Given the description of an element on the screen output the (x, y) to click on. 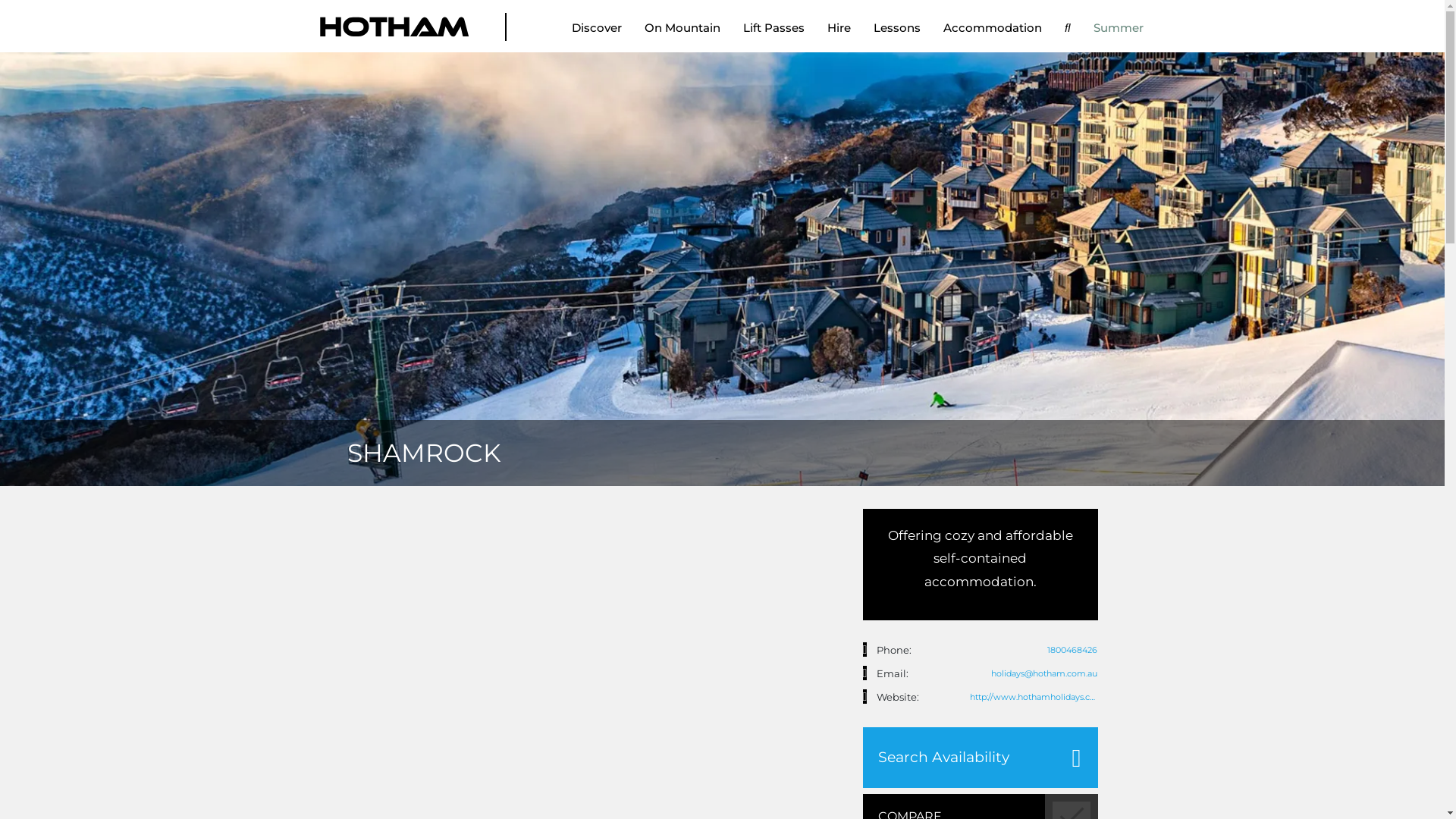
Lift Passes Element type: text (773, 32)
http://www.hothamholidays.com.au/ Element type: hover (864, 696)
Search Availability Element type: text (980, 757)
On Mountain Element type: text (682, 32)
Lessons Element type: text (896, 32)
1800468426 Element type: hover (864, 649)
http://www.hothamholidays.com.au/ Element type: text (1033, 696)
Hire Element type: text (838, 32)
holidays@hotham.com.au Element type: text (1033, 673)
holidays@hotham.com.au Element type: hover (864, 672)
Accommodation Element type: text (992, 32)
Summer Element type: text (1117, 32)
1800468426 Element type: text (1033, 649)
Discover Element type: text (596, 32)
